Given the description of an element on the screen output the (x, y) to click on. 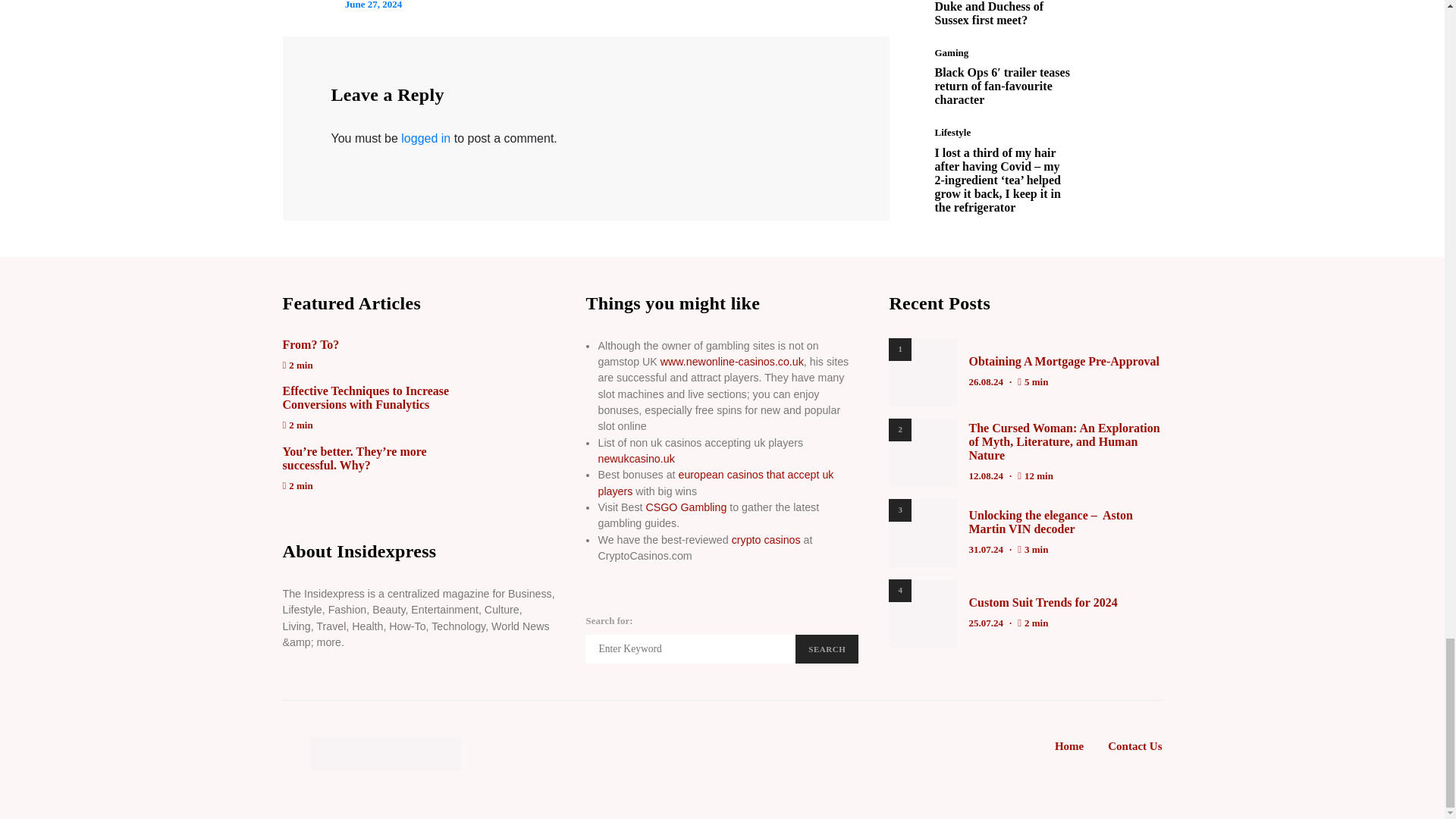
Obtaining A Mortgage Pre-Approval 10 (922, 372)
Non GamStop Casinos (732, 361)
